Given the description of an element on the screen output the (x, y) to click on. 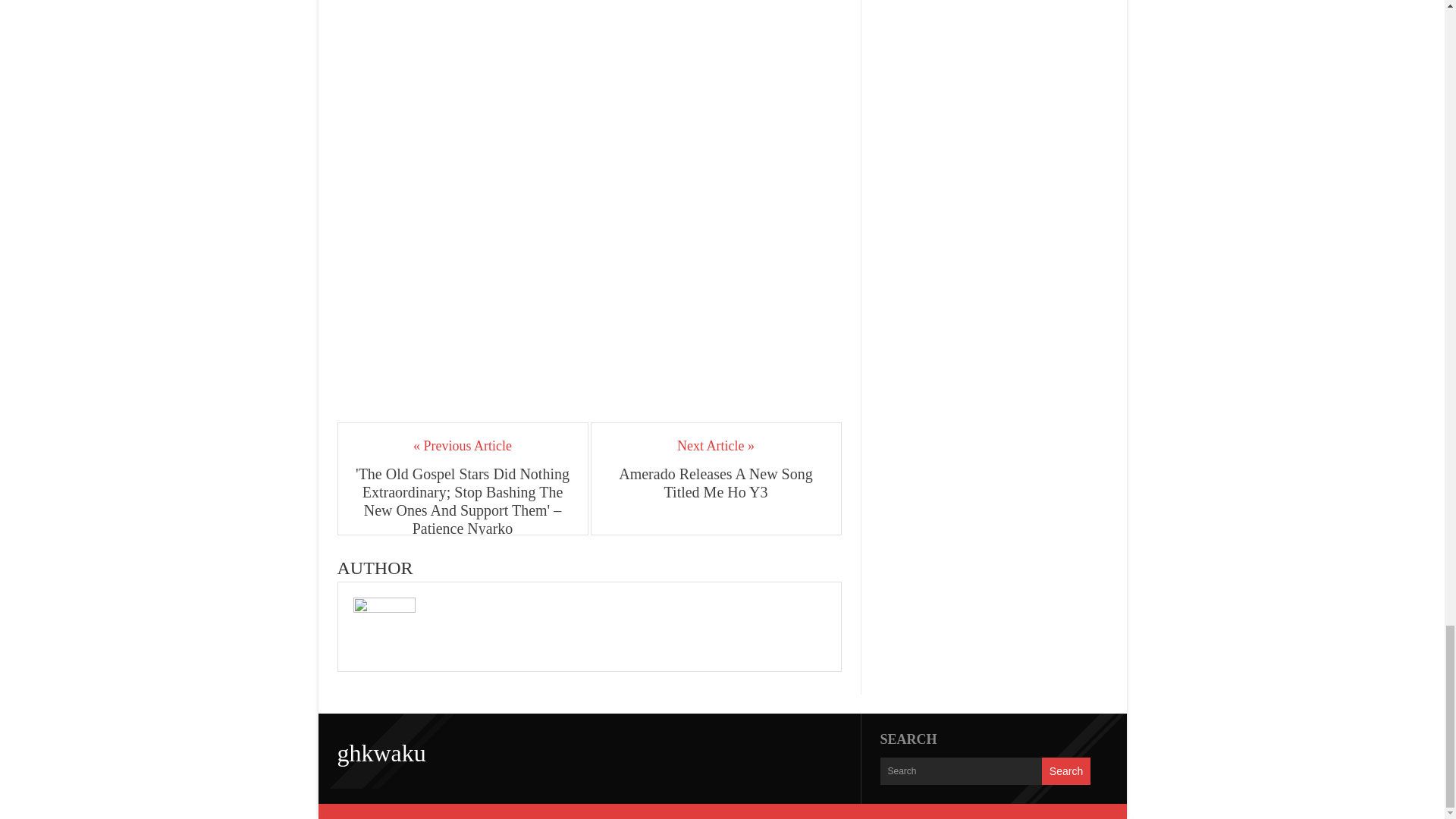
Search (1066, 770)
Search (1066, 770)
Amerado Releases A New Song Titled Me Ho Y3 (716, 483)
TANTO - NANA AMA SAFOWAAH (588, 5)
ghkwaku (380, 752)
